Given the description of an element on the screen output the (x, y) to click on. 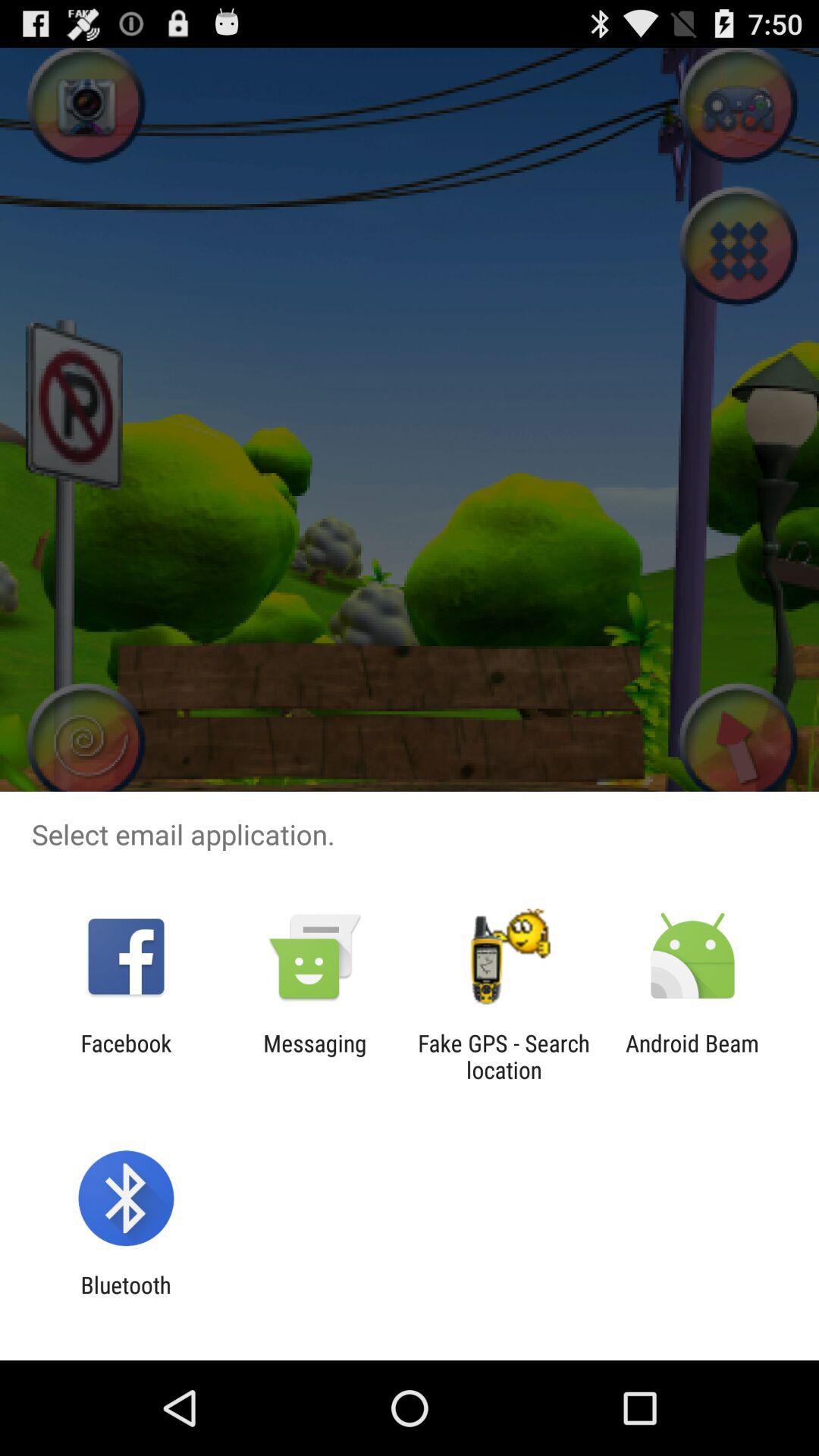
turn on app to the left of android beam item (503, 1056)
